Given the description of an element on the screen output the (x, y) to click on. 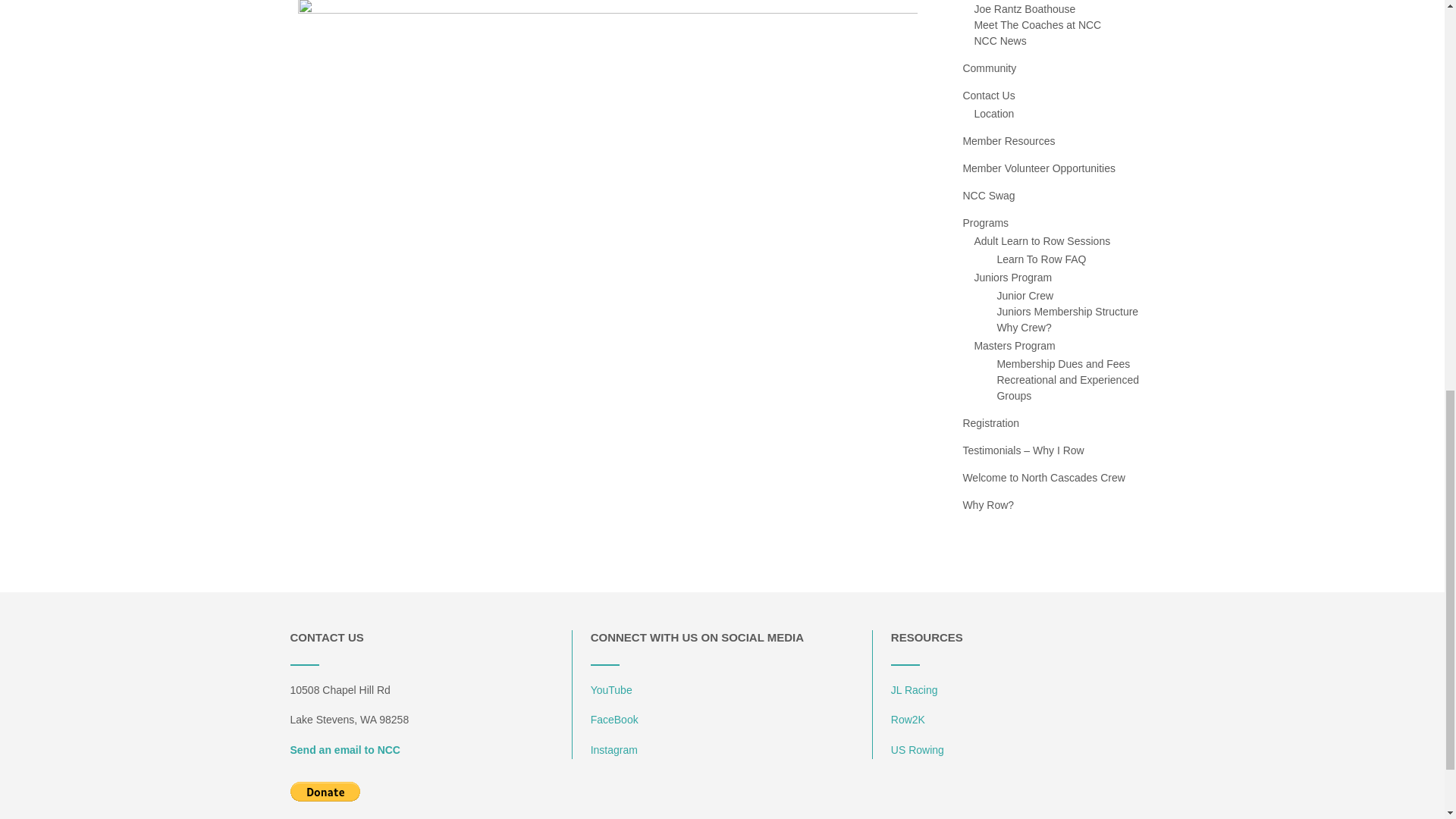
Joe Rantz Boathouse (1024, 9)
PayPal - The safer, easier way to pay online! (324, 791)
Location (993, 113)
NCC News (1000, 40)
Meet The Coaches at NCC (1037, 24)
Contact Us (988, 95)
Community (989, 68)
